Given the description of an element on the screen output the (x, y) to click on. 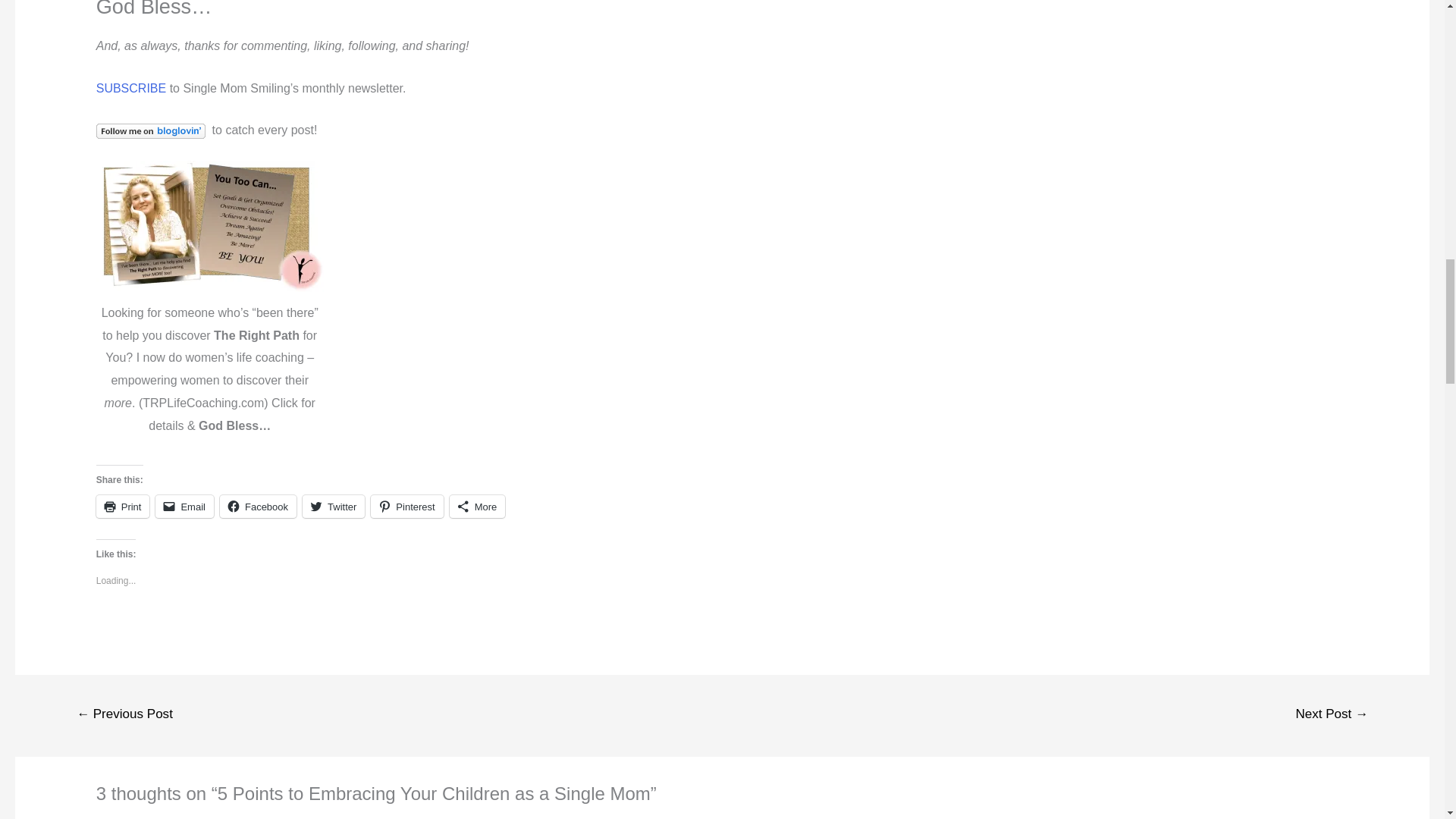
Click to share on Facebook (258, 506)
Click to email a link to a friend (184, 506)
Follow Single Mom Smiling on Bloglovin (150, 129)
Click to print (122, 506)
Click to share on Twitter (333, 506)
Click to share on Pinterest (406, 506)
